Given the description of an element on the screen output the (x, y) to click on. 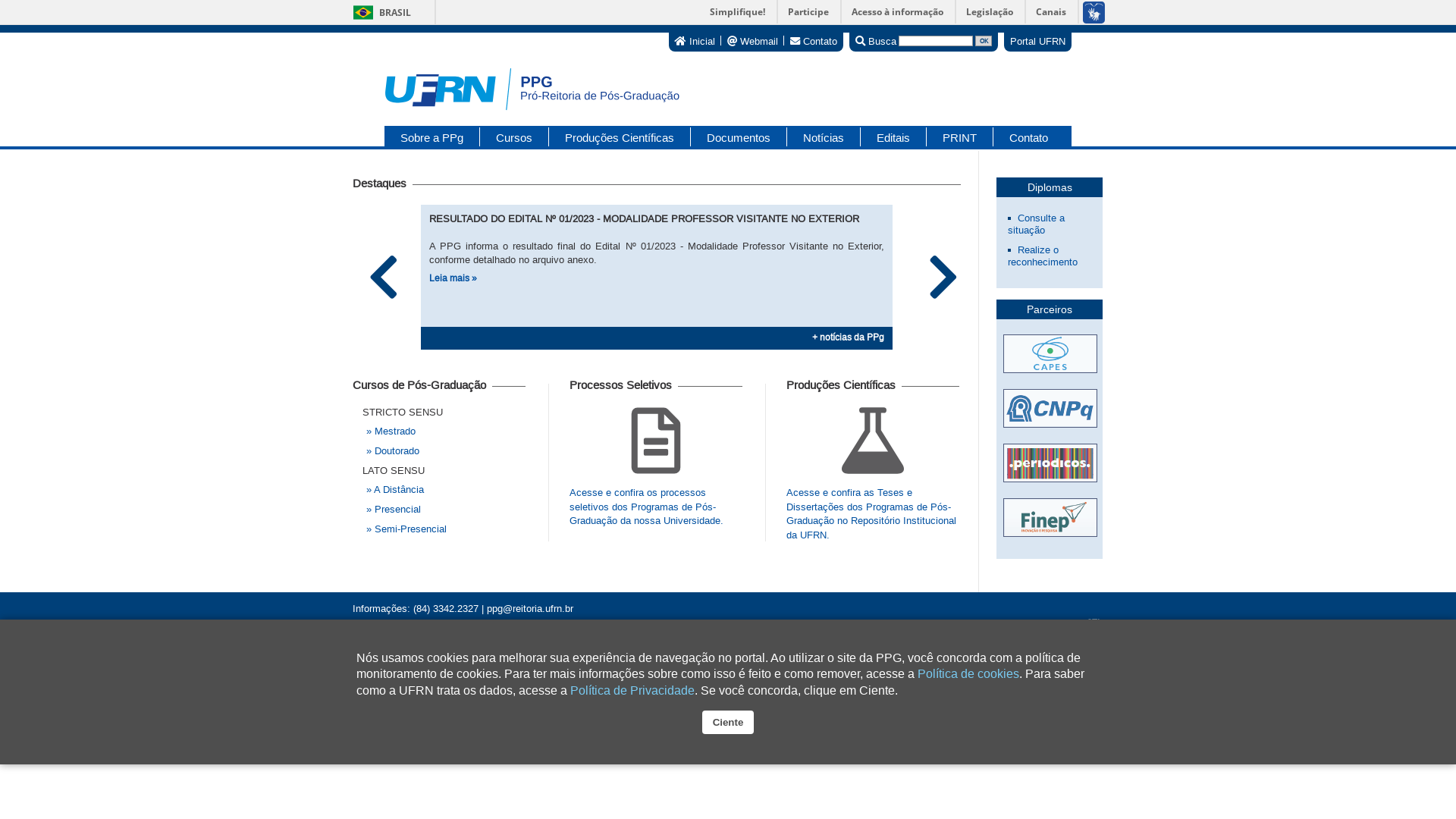
Inicial Element type: text (694, 40)
Portal UFRN Element type: text (1037, 41)
Webmail Element type: text (752, 40)
Acessar site da CAPES Element type: hover (1049, 361)
Realize o reconhecimento Element type: text (1042, 255)
OK Element type: text (983, 40)
Sobre a PPg Element type: text (432, 136)
Contato Element type: text (813, 40)
Documentos Element type: text (738, 136)
BRASIL Element type: text (379, 12)
ppg@reitoria.ufrn.br Element type: text (529, 608)
UFRN - Universidade Federal do Rio Grande do Norte Element type: text (469, 636)
Contato Element type: text (1020, 136)
Ciente Element type: text (728, 722)
Editais Element type: text (893, 136)
STI Element type: text (1092, 622)
Cursos Element type: text (514, 136)
PRINT Element type: text (959, 136)
Acessar site da CNPQ Element type: hover (1049, 416)
Acessar site da FINEP Element type: hover (1049, 518)
